Given the description of an element on the screen output the (x, y) to click on. 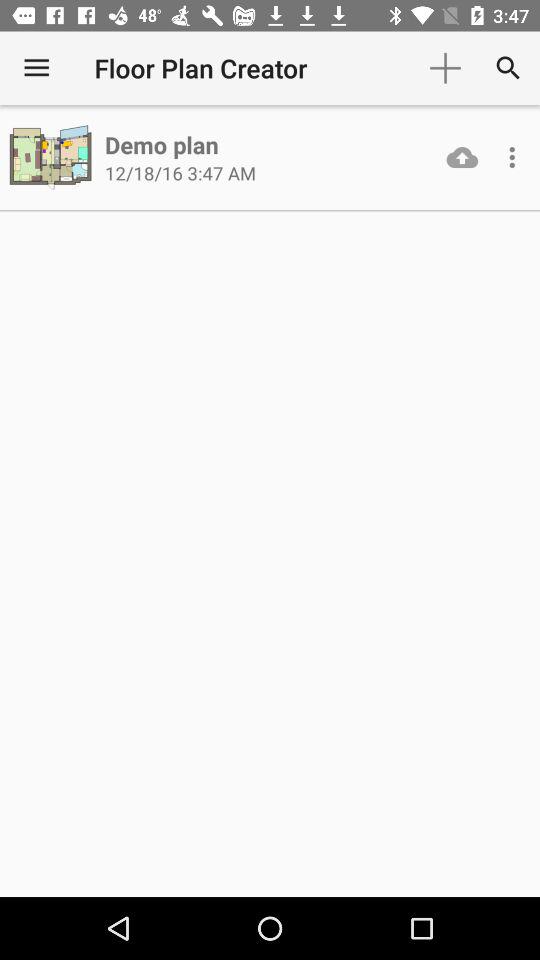
select the item to the right of floor plan creator (444, 67)
